Given the description of an element on the screen output the (x, y) to click on. 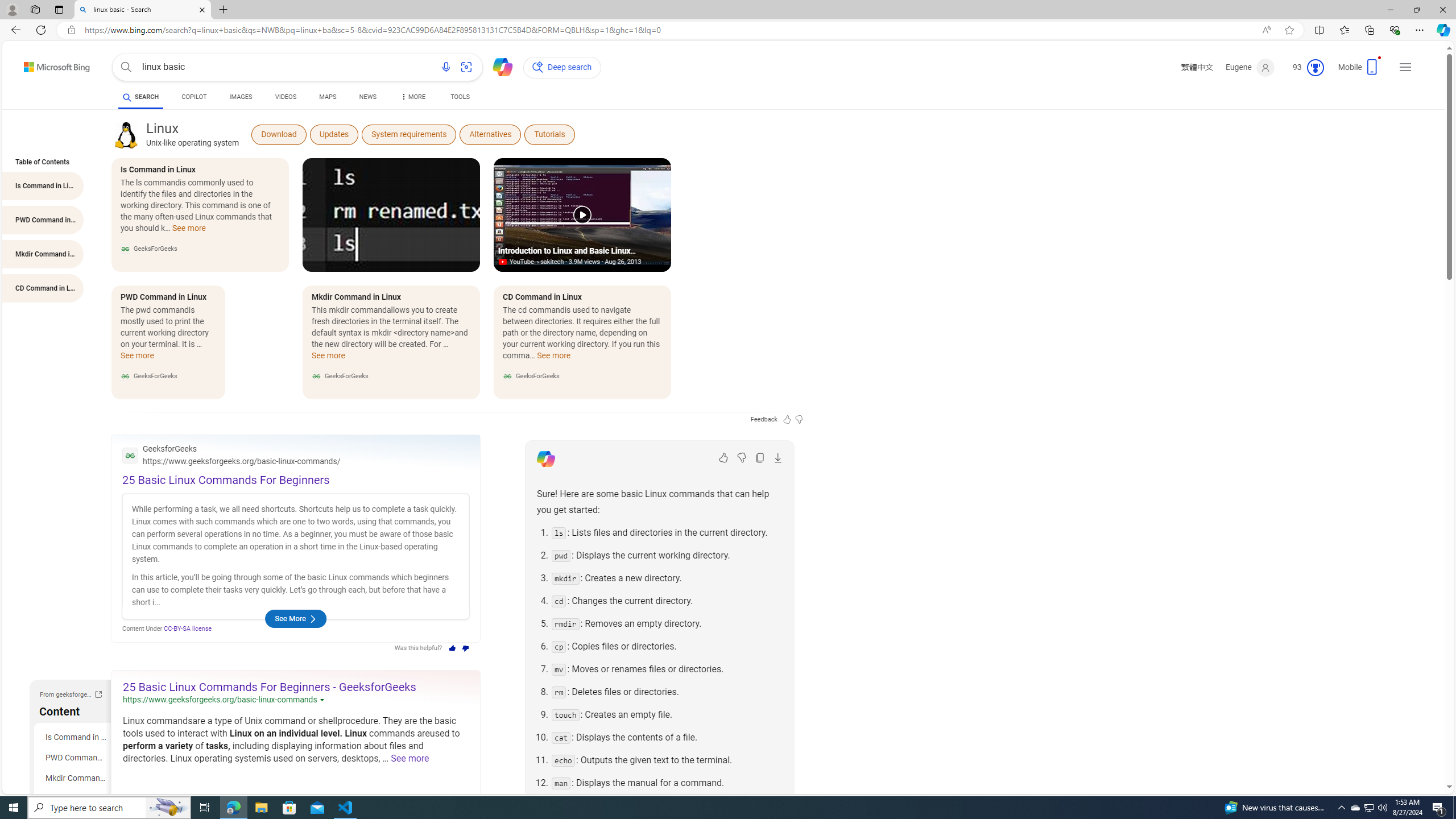
COPILOT (193, 98)
Skip to content (36, 63)
Linux Unix-like operating system (192, 134)
Search button (126, 66)
AutomationID: mfa_root (1406, 752)
NEWS (367, 96)
man: Displays the manual for a command. (666, 783)
Mkdir Command in Linux (74, 778)
echo: Outputs the given text to the terminal. (666, 760)
See more Mkdir Command in Linux (328, 358)
cd: Changes the current directory. (666, 600)
25 Basic Linux Commands For Beginners (226, 479)
